Given the description of an element on the screen output the (x, y) to click on. 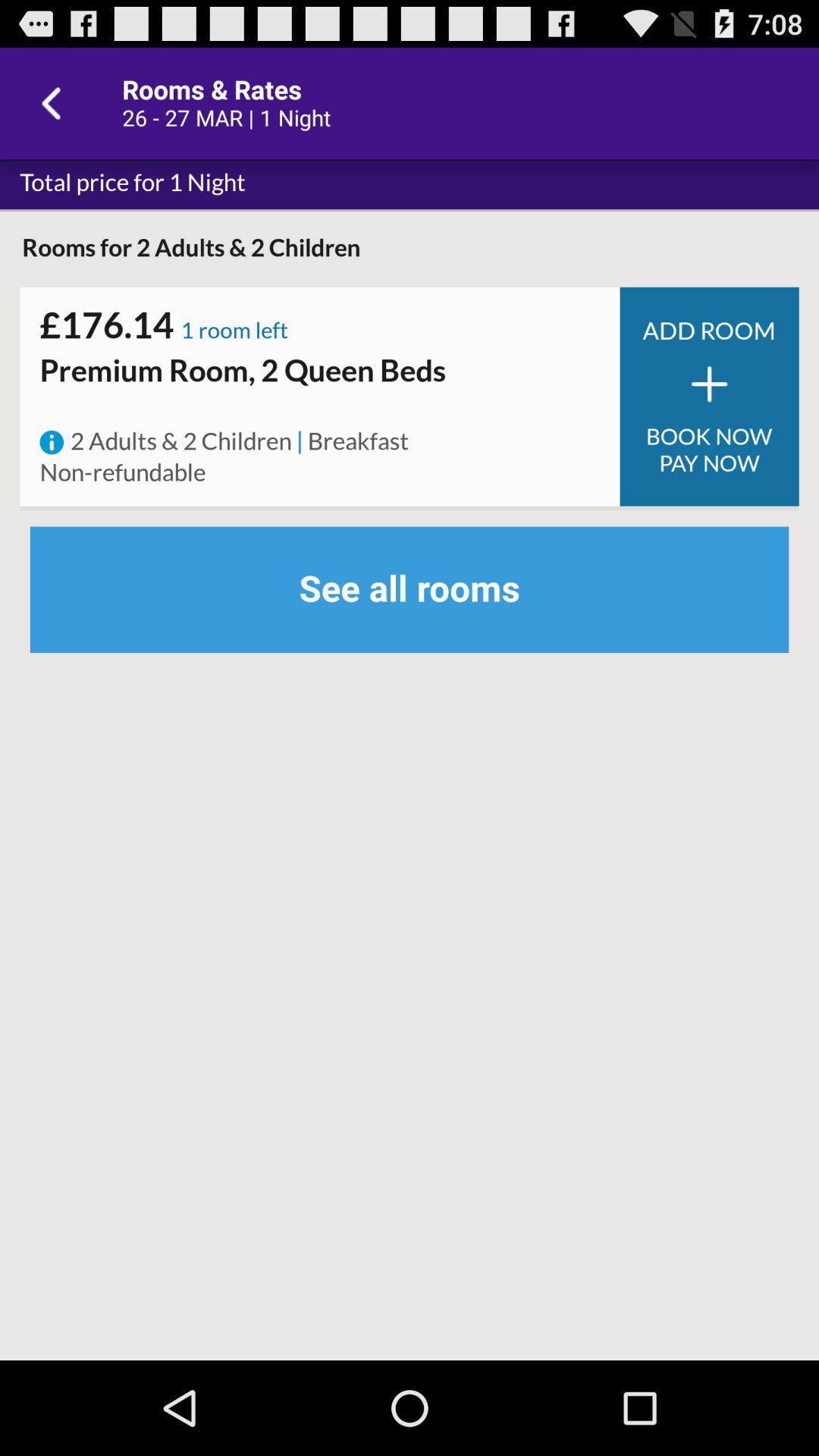
turn on icon next to rooms & rates icon (55, 103)
